Given the description of an element on the screen output the (x, y) to click on. 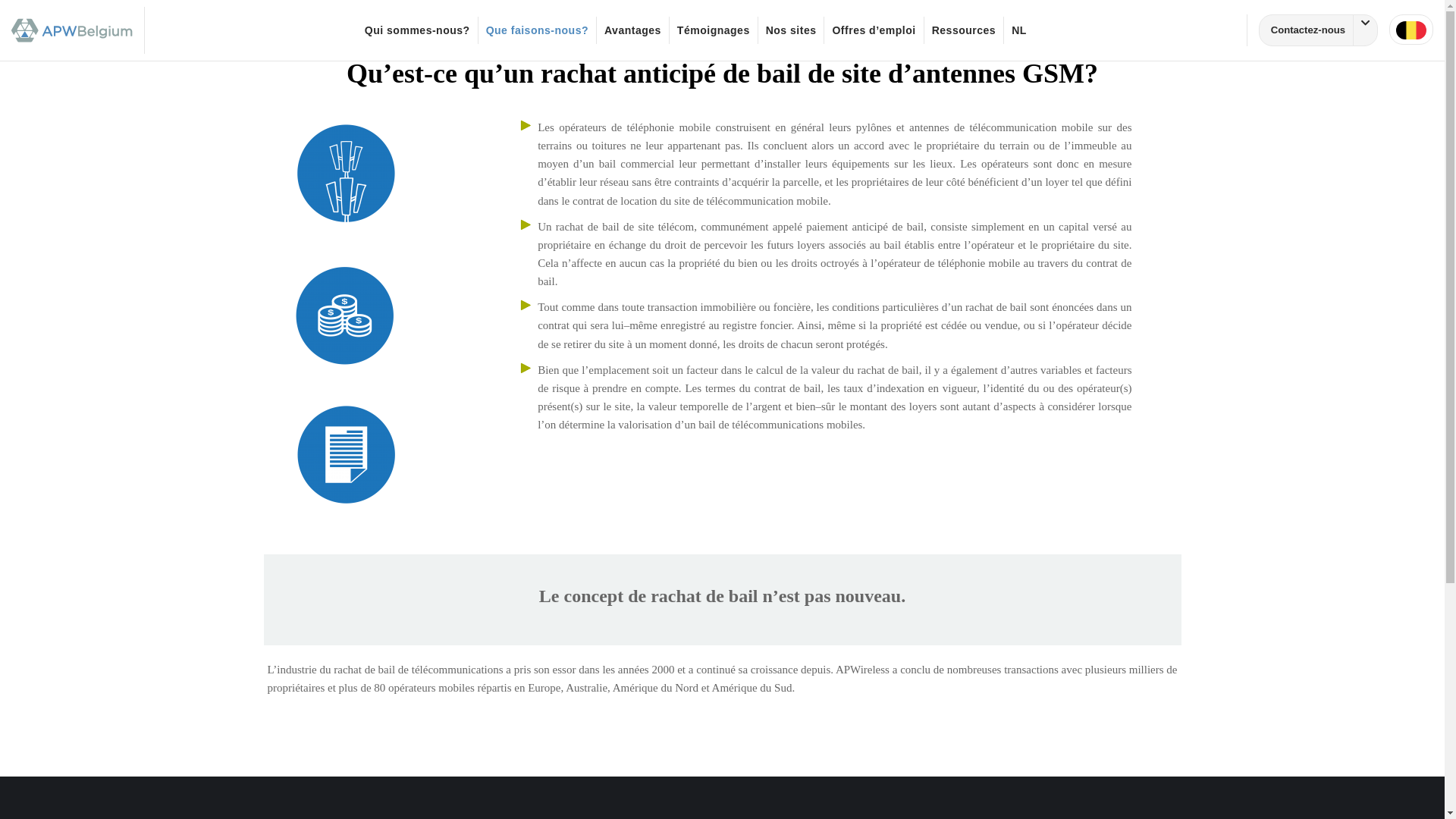
Qui sommes-nous? Element type: text (417, 29)
Ressources Element type: text (963, 29)
img2 Element type: hover (345, 315)
img1 Element type: hover (345, 455)
Avantages Element type: text (632, 29)
img3 Element type: hover (345, 175)
NL Element type: text (1018, 29)
Contactez-nous Element type: text (1317, 30)
Que faisons-nous? Element type: text (537, 29)
Nos sites Element type: text (790, 29)
